Given the description of an element on the screen output the (x, y) to click on. 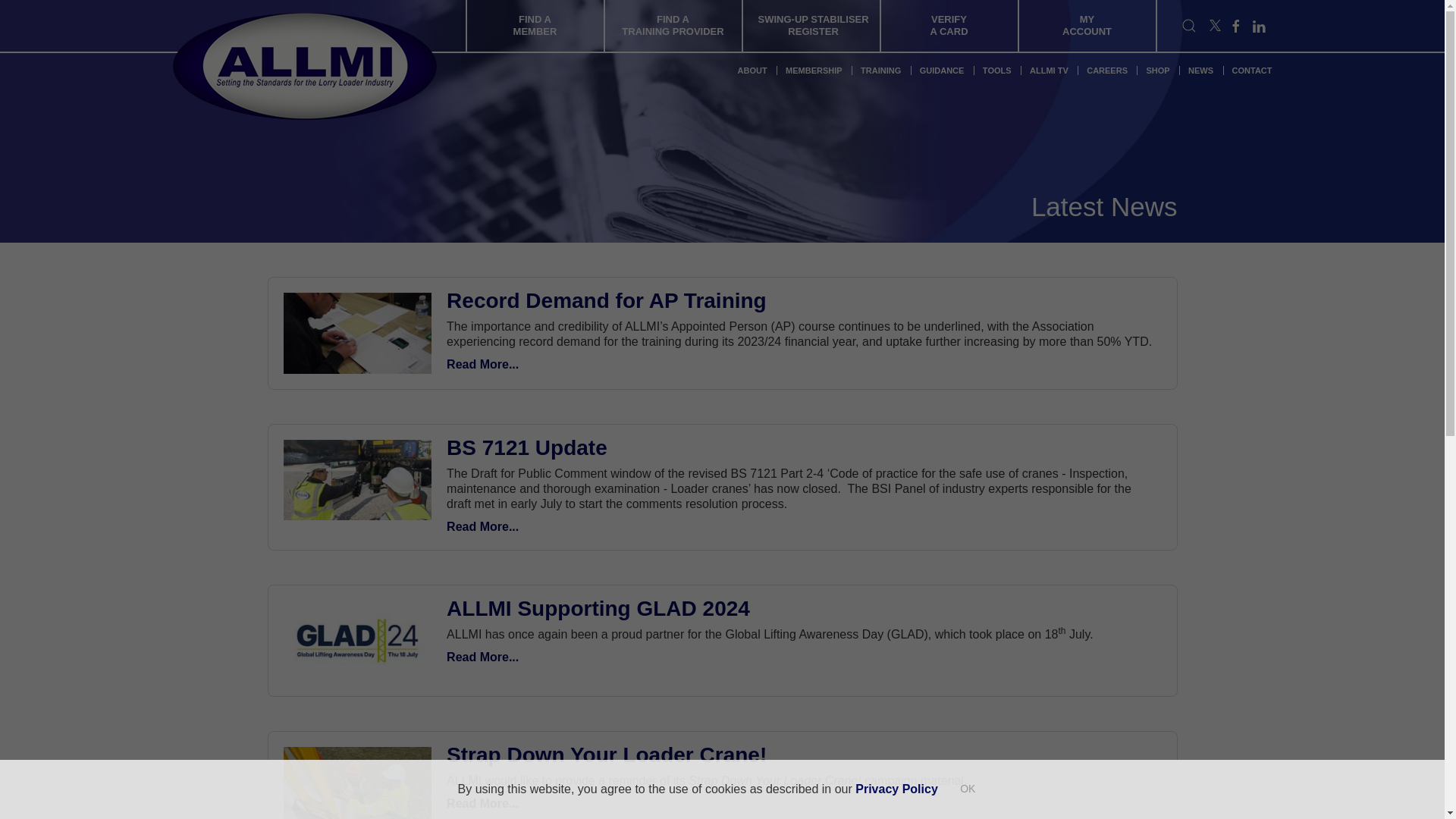
FIND A TRAINING PROVIDER (672, 25)
ABOUT (755, 70)
MY ACCOUNT (1087, 25)
